Given the description of an element on the screen output the (x, y) to click on. 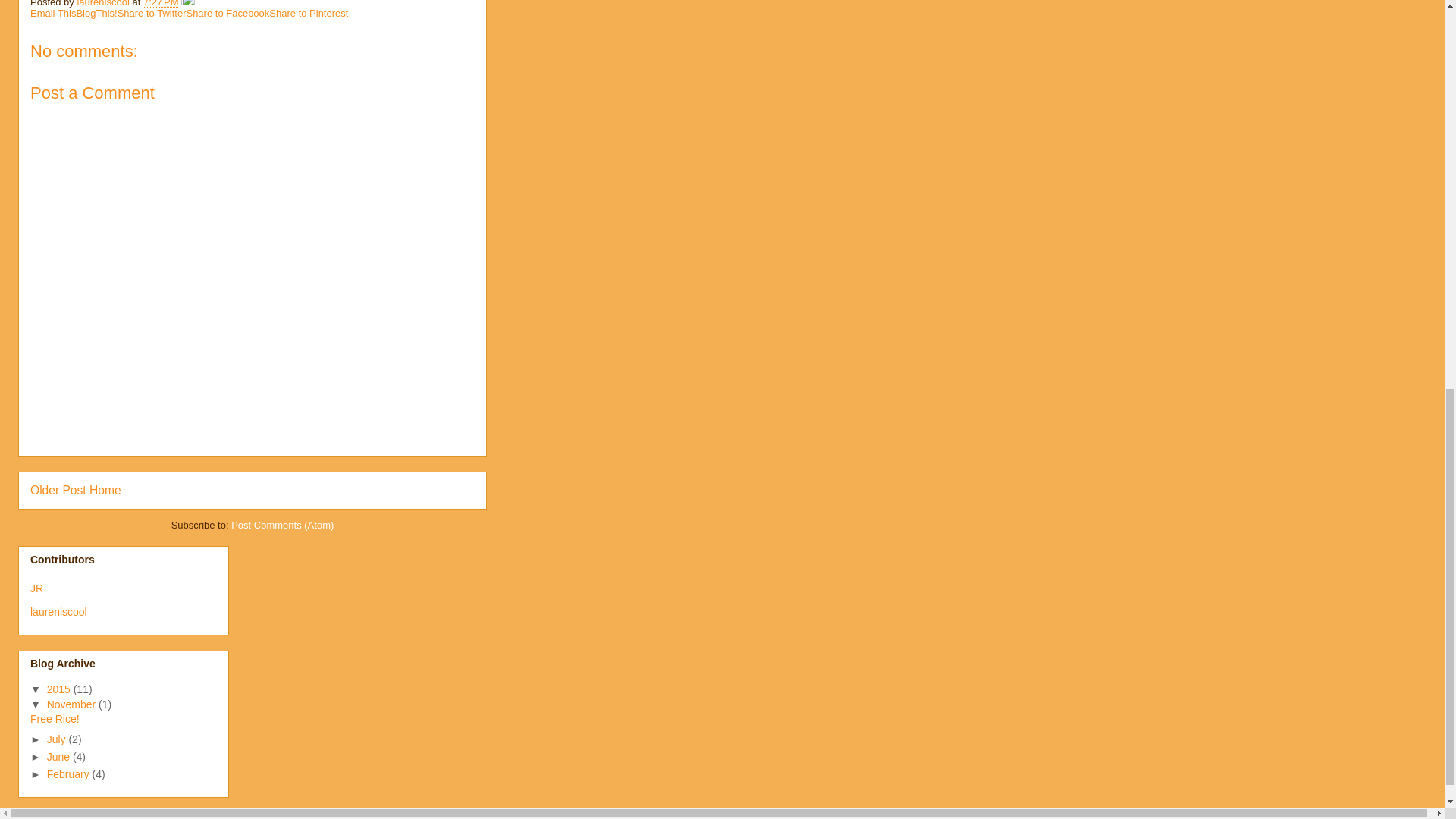
Share to Twitter (151, 12)
Share to Facebook (227, 12)
Share to Twitter (151, 12)
Share to Pinterest (308, 12)
February (69, 774)
Older Post (57, 490)
Email This (52, 12)
Edit Post (187, 3)
laureniscool (58, 612)
2015 (60, 689)
author profile (104, 3)
Share to Facebook (227, 12)
permanent link (160, 3)
BlogThis! (95, 12)
Email This (52, 12)
